Given the description of an element on the screen output the (x, y) to click on. 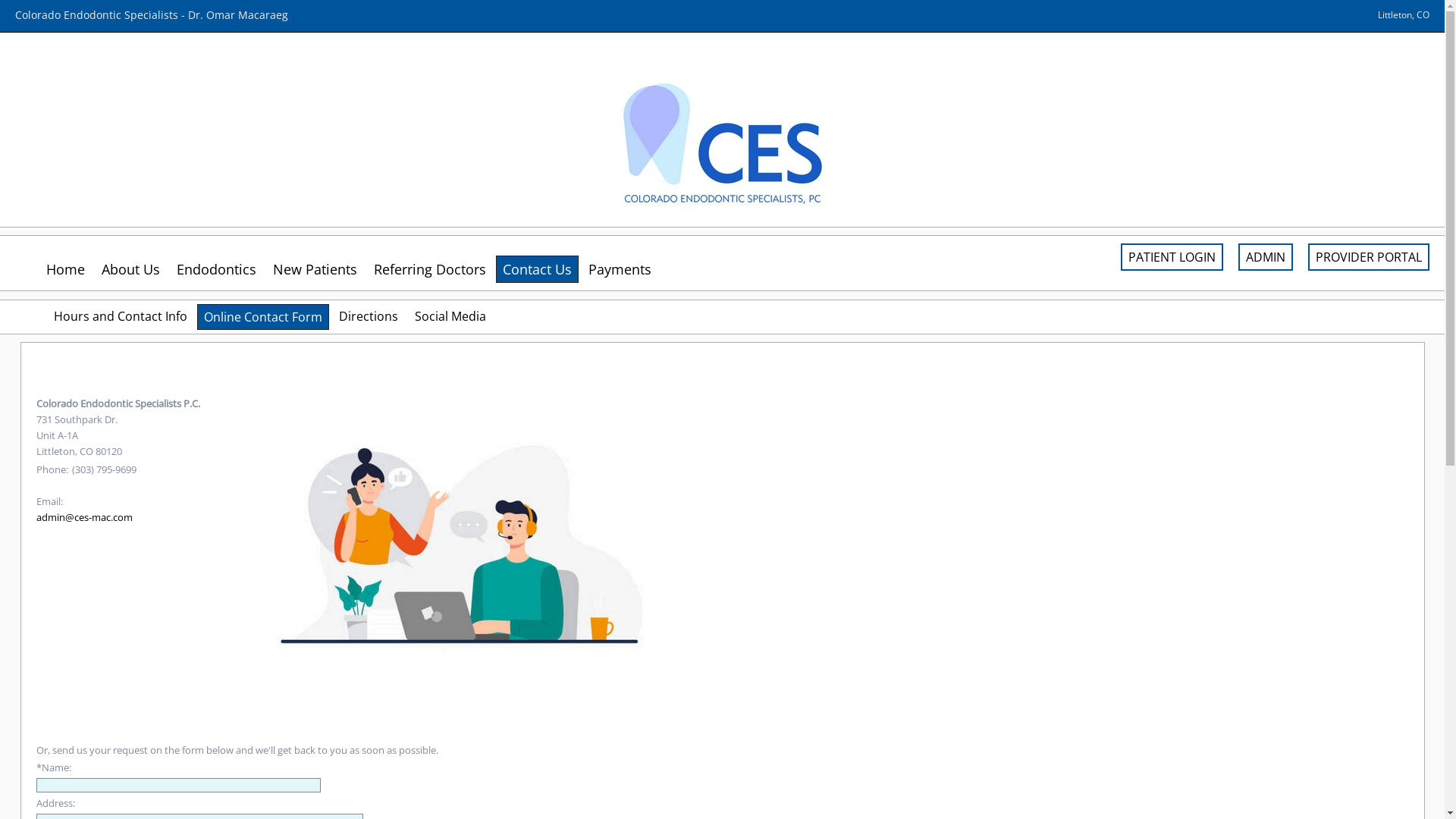
PATIENT LOGIN Element type: text (1171, 256)
Home Element type: text (65, 268)
Skip to Main Content Element type: text (47, 6)
Social Media Element type: text (449, 316)
Directions Element type: text (368, 316)
admin@ces-mac.com Element type: text (84, 517)
Payments Element type: text (619, 268)
Referring Doctors Element type: text (429, 268)
New Patients Element type: text (315, 268)
Home Element type: text (14, 6)
PROVIDER PORTAL Element type: text (1368, 256)
Endodontics Element type: text (216, 268)
Hours and Contact Info Element type: text (120, 316)
About Us Element type: text (130, 268)
ADMIN Element type: text (1265, 256)
